Given the description of an element on the screen output the (x, y) to click on. 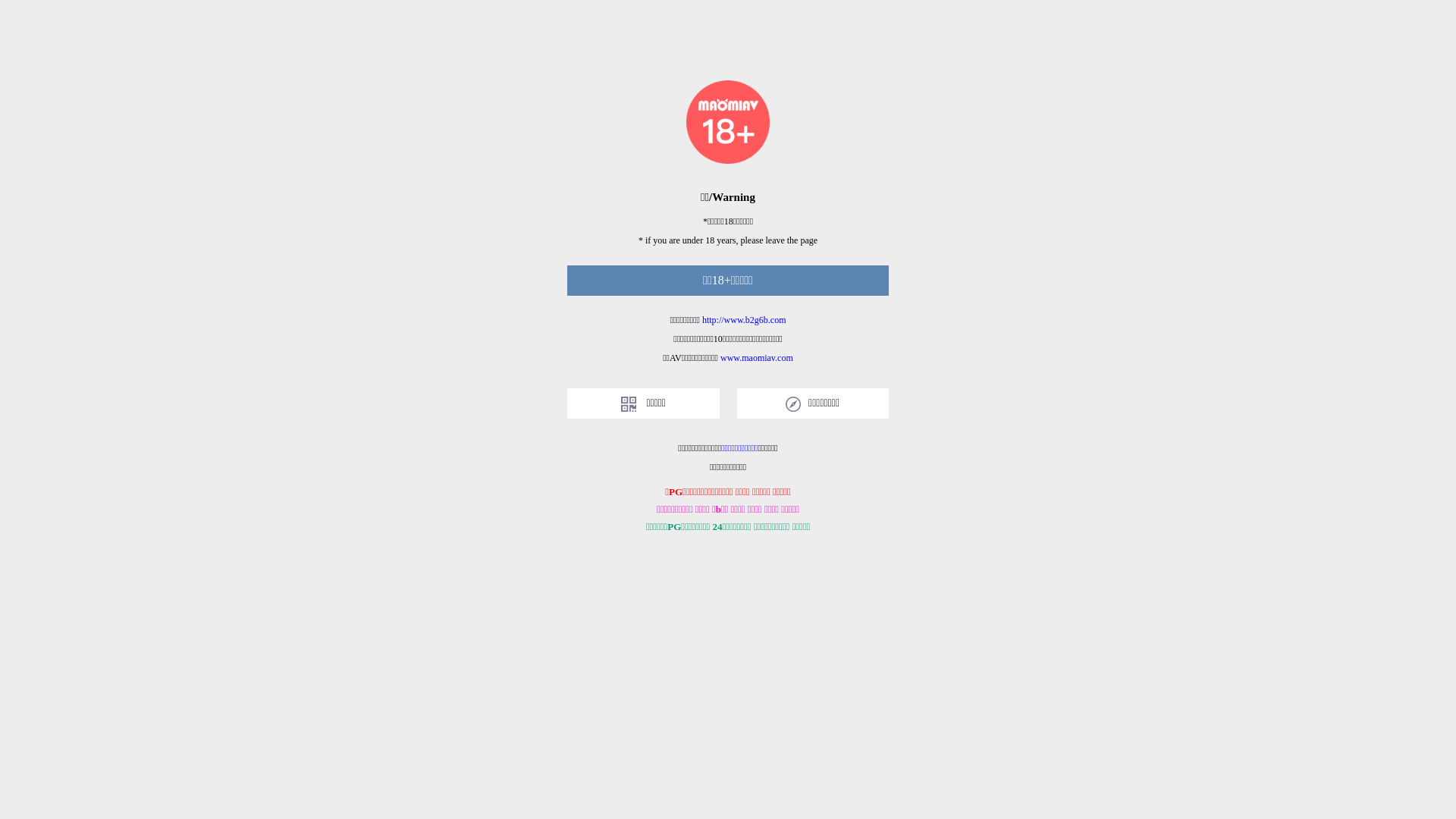
www.maomiav.com Element type: text (756, 357)
http://www.b2g6b.com Element type: text (744, 319)
